Given the description of an element on the screen output the (x, y) to click on. 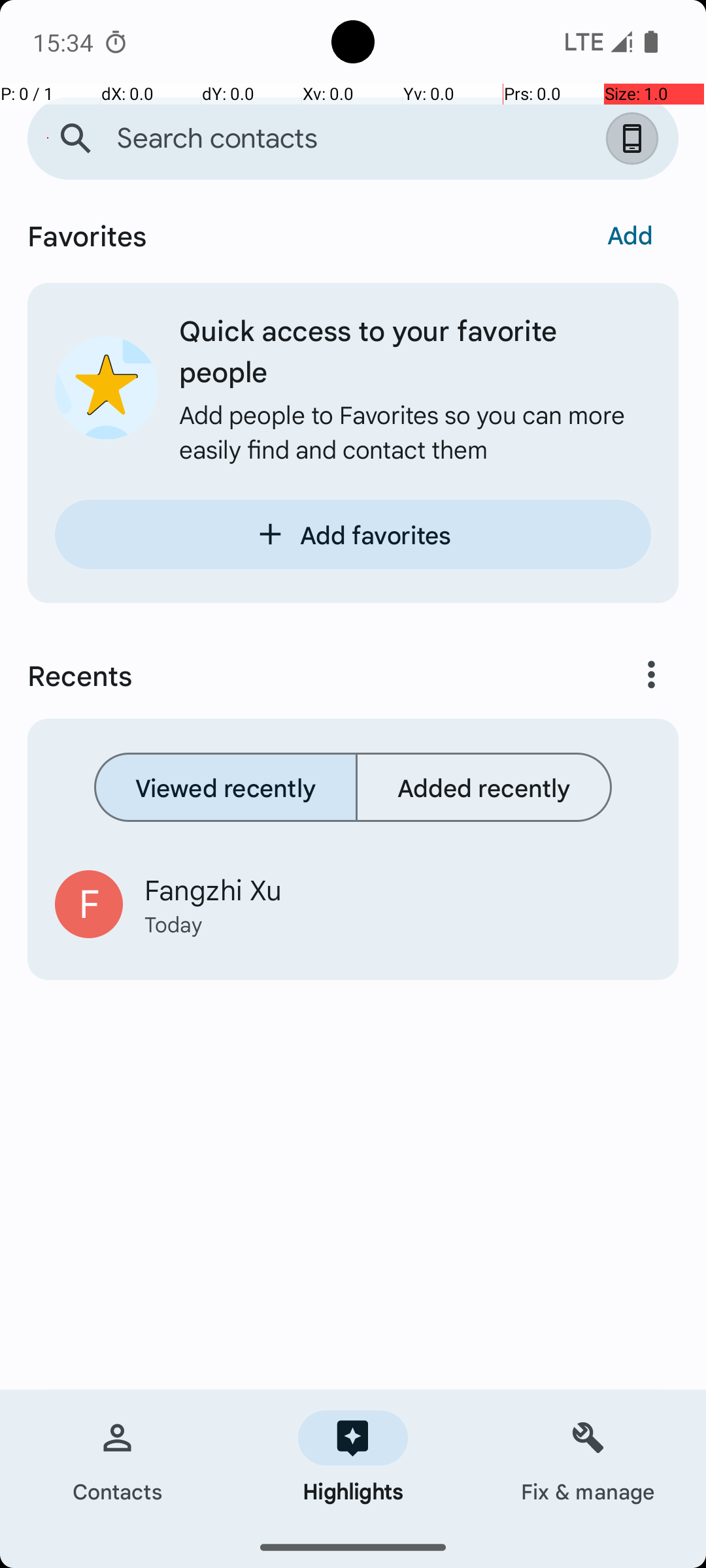
Quick access to your favorite people Element type: android.widget.TextView (415, 350)
Add people to Favorites so you can more easily find and contact them Element type: android.widget.TextView (415, 431)
Add favorites Element type: android.widget.Button (352, 534)
Recents Element type: android.widget.TextView (298, 674)
Viewed recently Element type: android.widget.CompoundButton (225, 787)
Added recently Element type: android.widget.CompoundButton (483, 787)
Fangzhi Xu Element type: android.widget.TextView (397, 888)
